Given the description of an element on the screen output the (x, y) to click on. 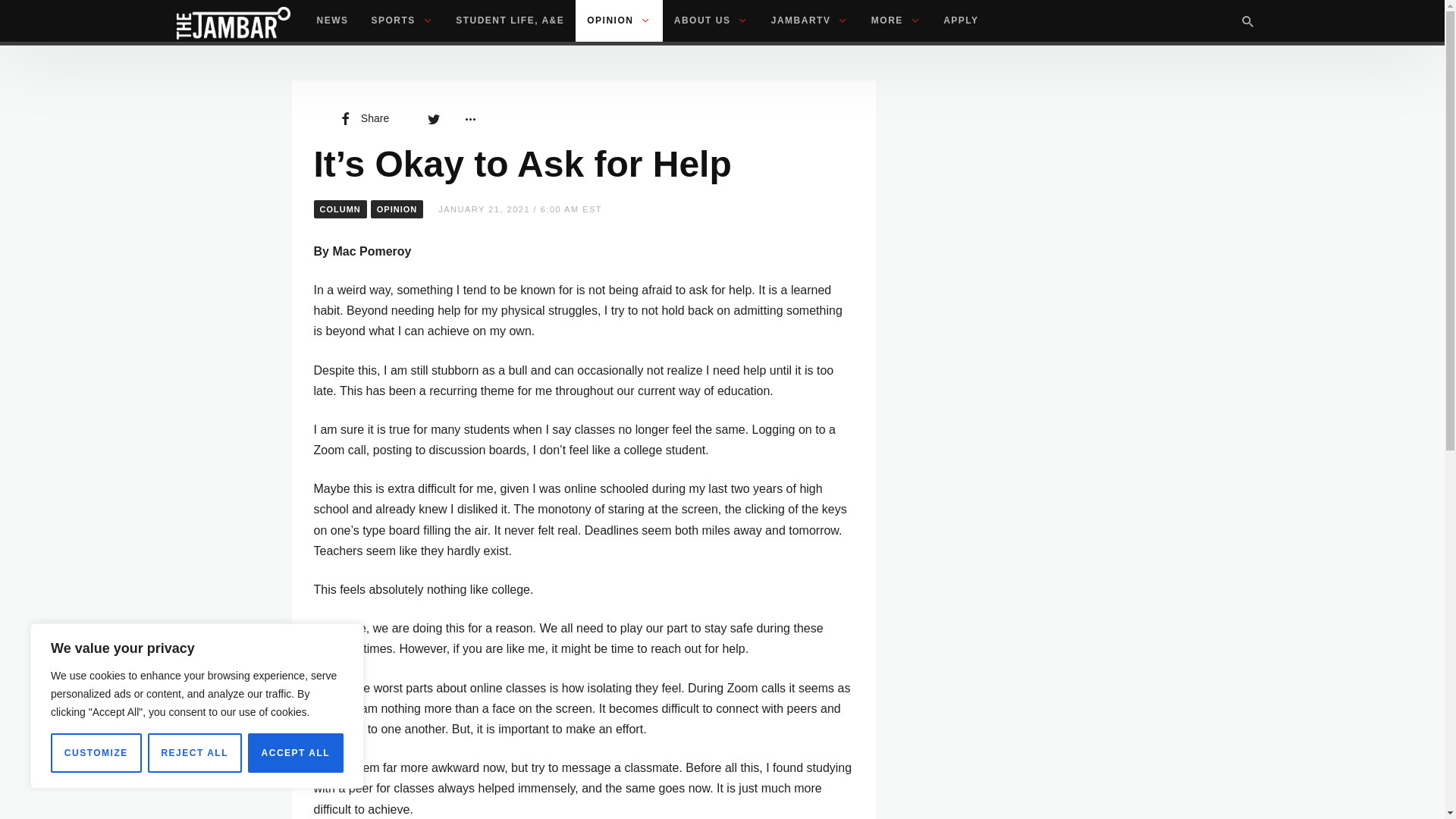
MORE (895, 20)
ABOUT US (711, 20)
View all posts in Opinion (397, 208)
CUSTOMIZE (95, 753)
More (469, 118)
OPINION (618, 20)
JAMBARTV (810, 20)
View all posts in Column (340, 208)
REJECT ALL (194, 753)
Share on Facebook (363, 118)
NEWS (331, 20)
SPORTS (401, 20)
Share on Twitter (433, 118)
ACCEPT ALL (295, 753)
